Given the description of an element on the screen output the (x, y) to click on. 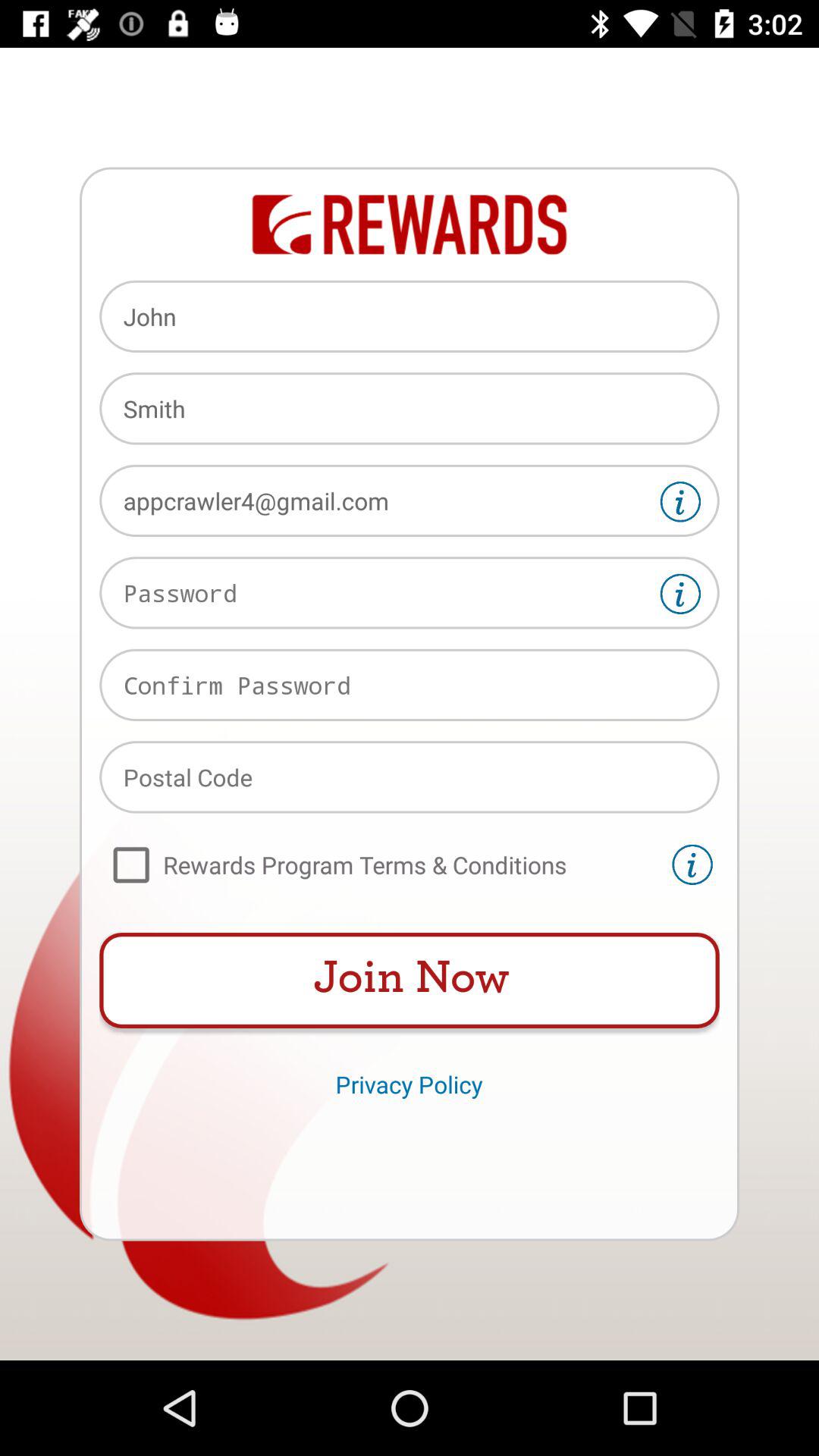
information (692, 864)
